Given the description of an element on the screen output the (x, y) to click on. 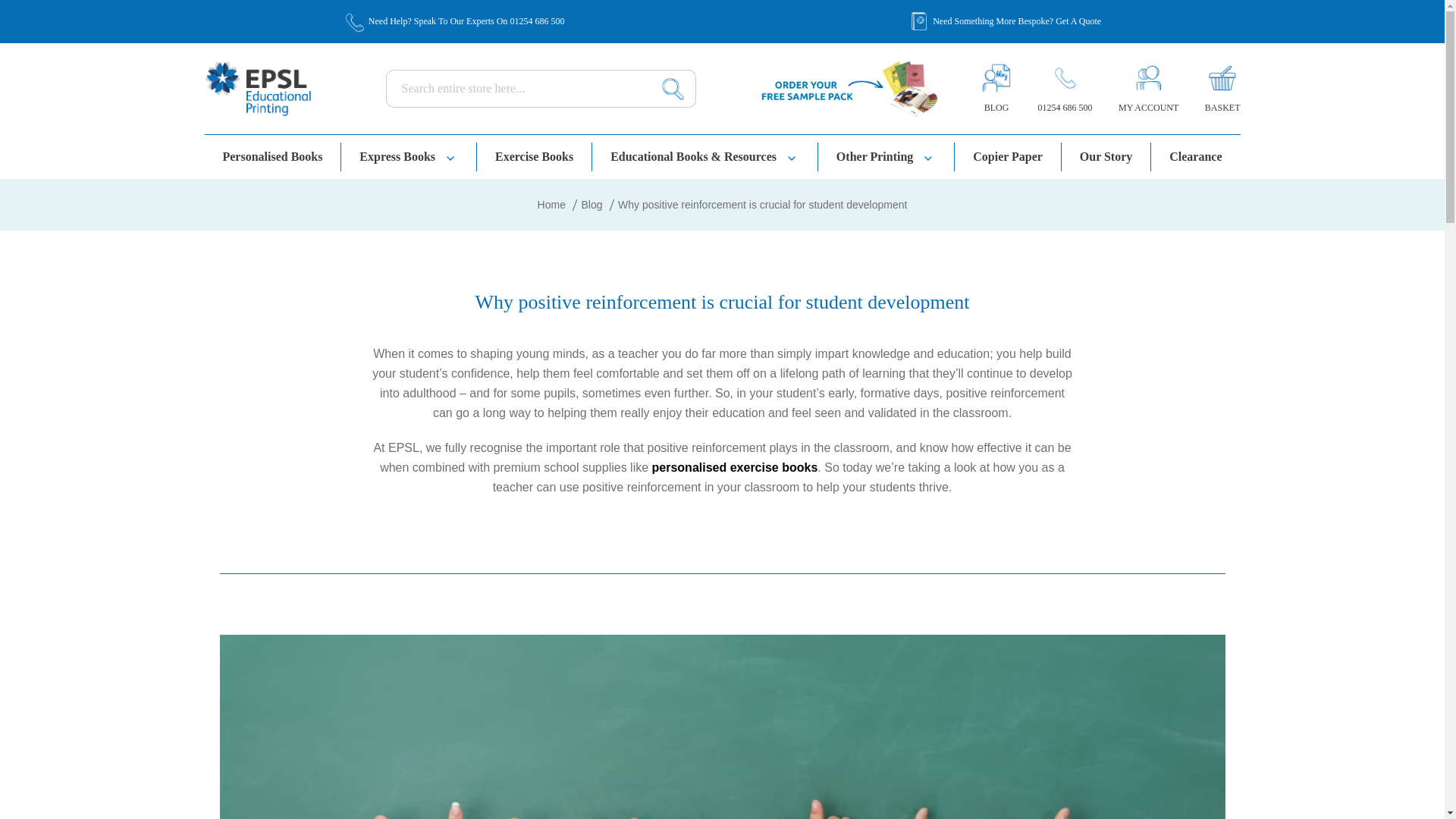
Our Story (1106, 156)
Get A Quote (1077, 21)
Our Story (1106, 156)
Express Books (408, 156)
BLOG (996, 106)
EPSL Educational Printing (258, 88)
Search (673, 88)
Personalised Books (273, 156)
Copier Paper (1008, 156)
Exercise Books (534, 156)
Other Printing (886, 156)
Copier Paper (1008, 156)
MY ACCOUNT (1147, 106)
Clearance (1195, 156)
Personalised Books (273, 156)
